Given the description of an element on the screen output the (x, y) to click on. 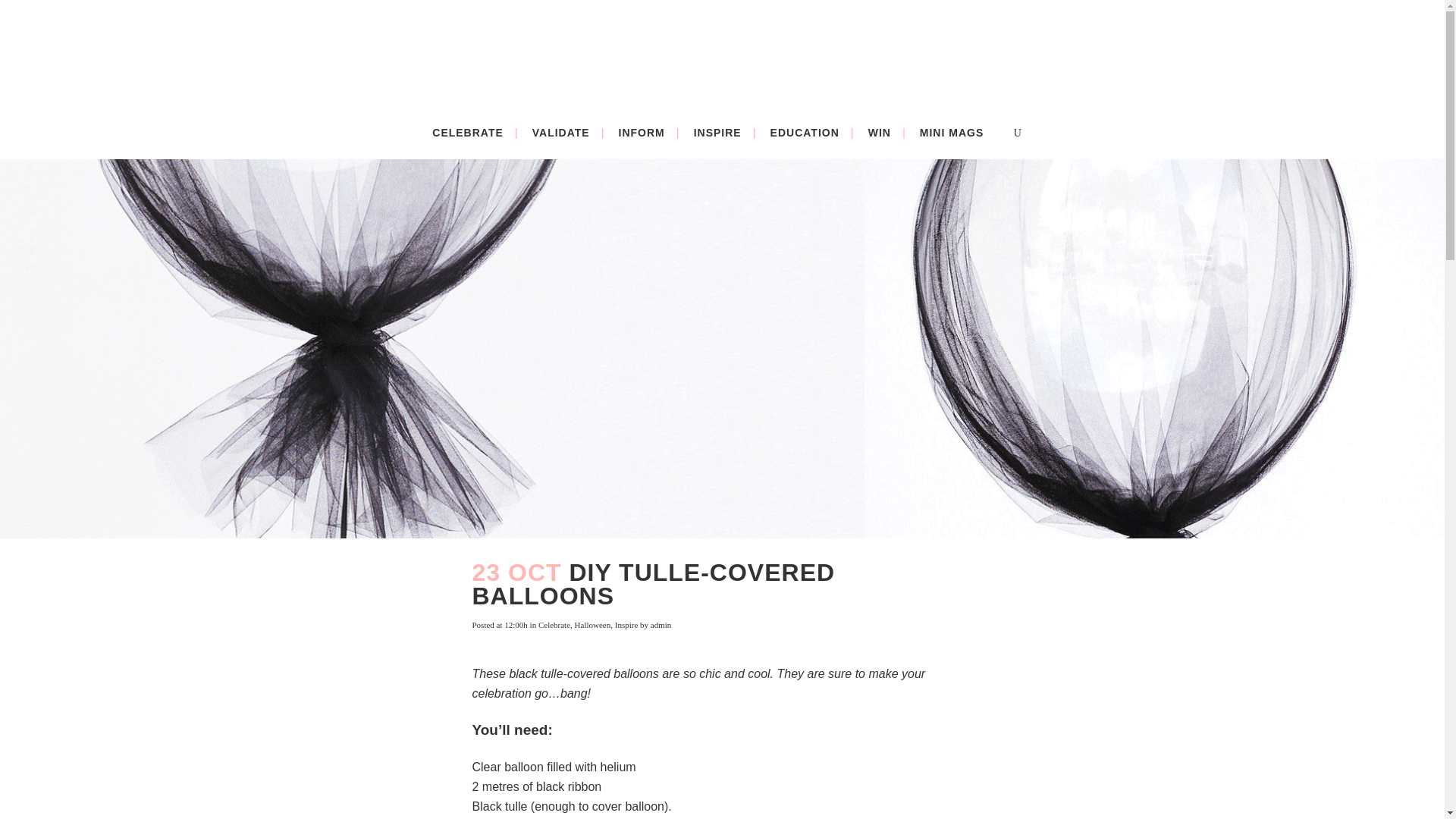
admin (660, 624)
MINI MAGS (951, 132)
Celebrate (554, 624)
Halloween (593, 624)
INFORM (641, 132)
INSPIRE (717, 132)
EDUCATION (804, 132)
VALIDATE (560, 132)
CELEBRATE (467, 132)
WIN (880, 132)
Inspire (626, 624)
